Given the description of an element on the screen output the (x, y) to click on. 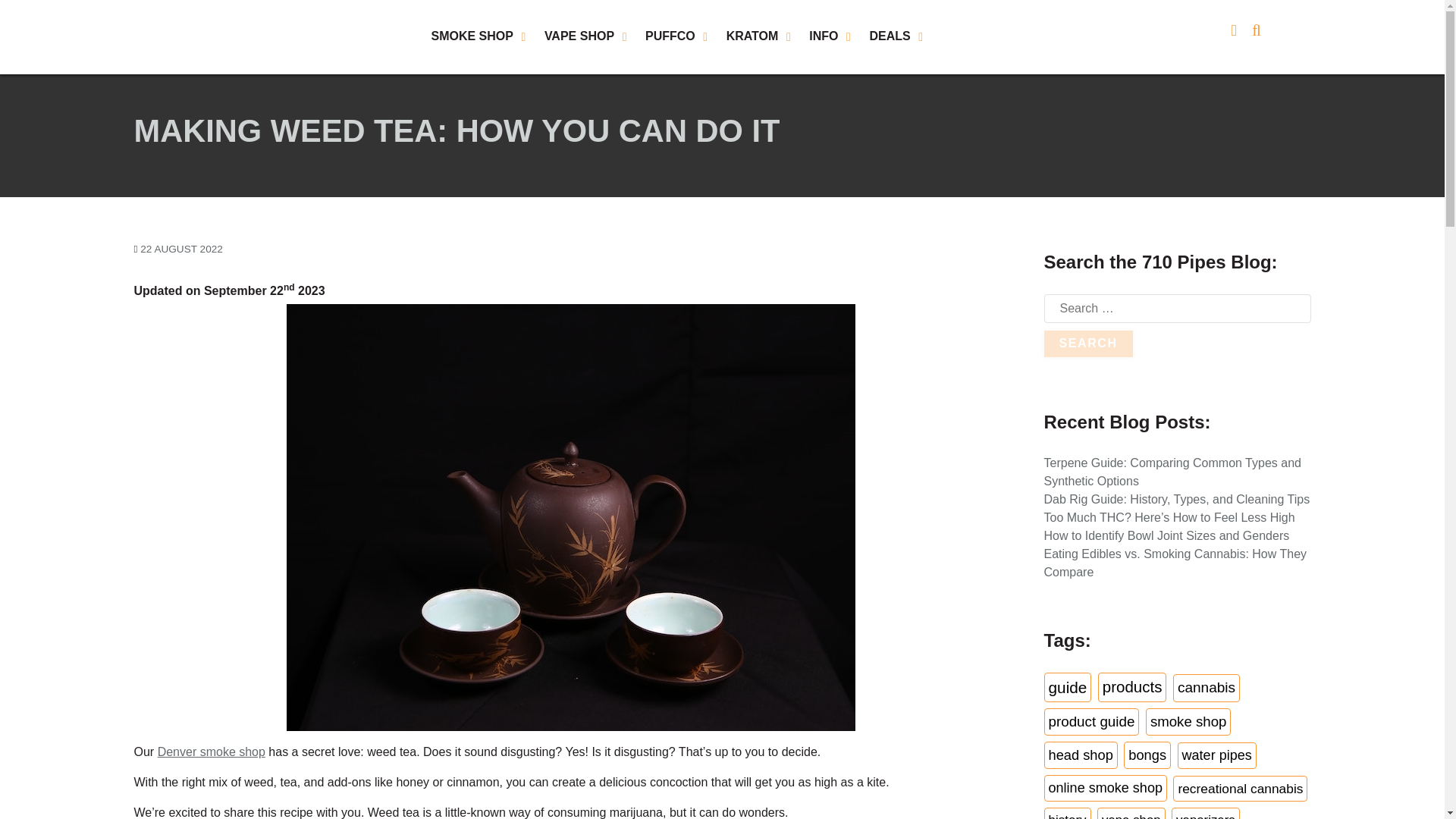
Making Weed Tea: How You Can Do It (180, 248)
Search for: (1176, 308)
SMOKE SHOP (479, 37)
710 Pipes Logo (201, 35)
Search (1087, 343)
Search (1087, 343)
